Given the description of an element on the screen output the (x, y) to click on. 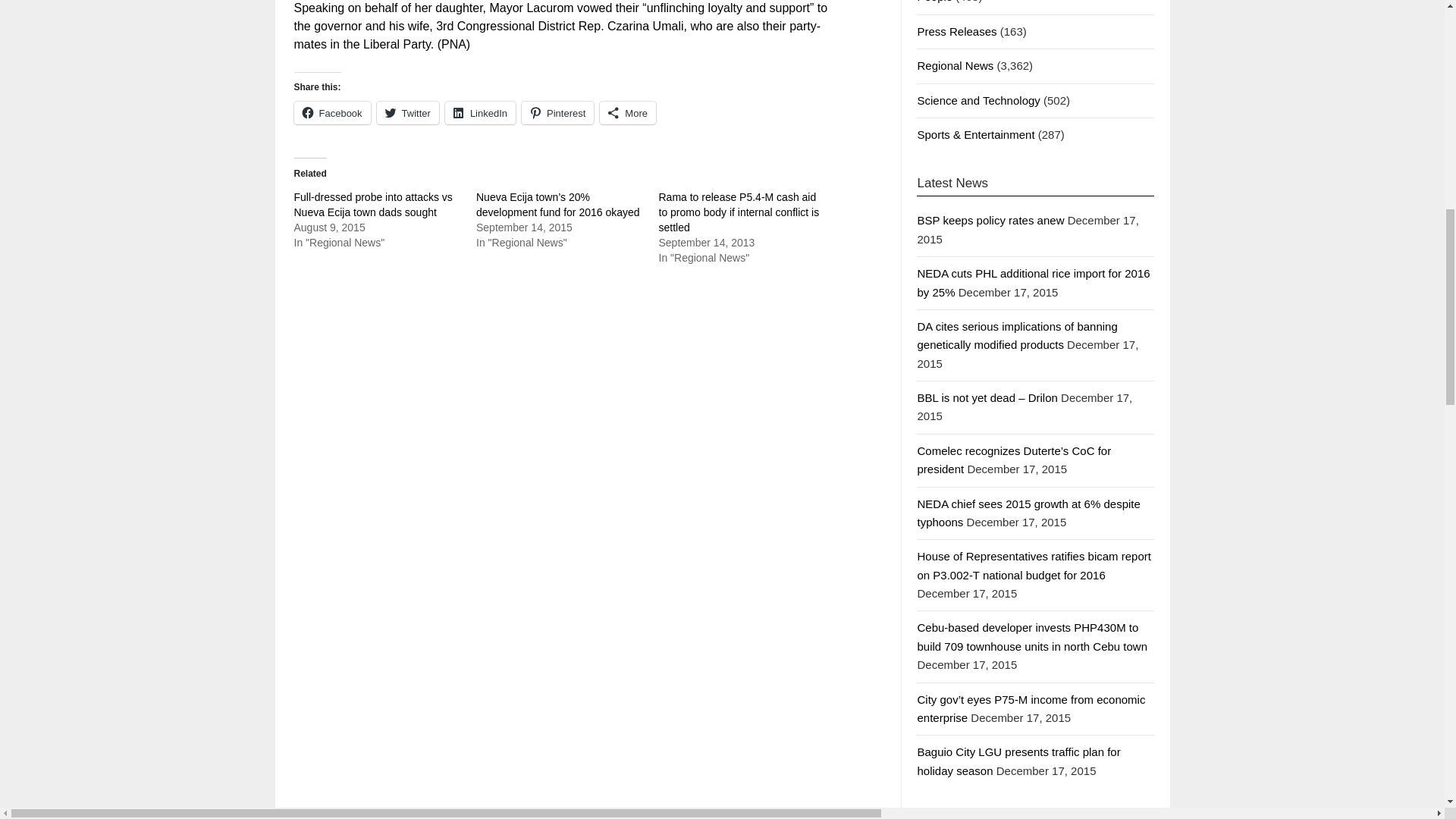
Pinterest (557, 112)
Science and Technology (978, 100)
Click to share on LinkedIn (480, 112)
Regional News (954, 65)
Click to share on Pinterest (557, 112)
LinkedIn (480, 112)
